Given the description of an element on the screen output the (x, y) to click on. 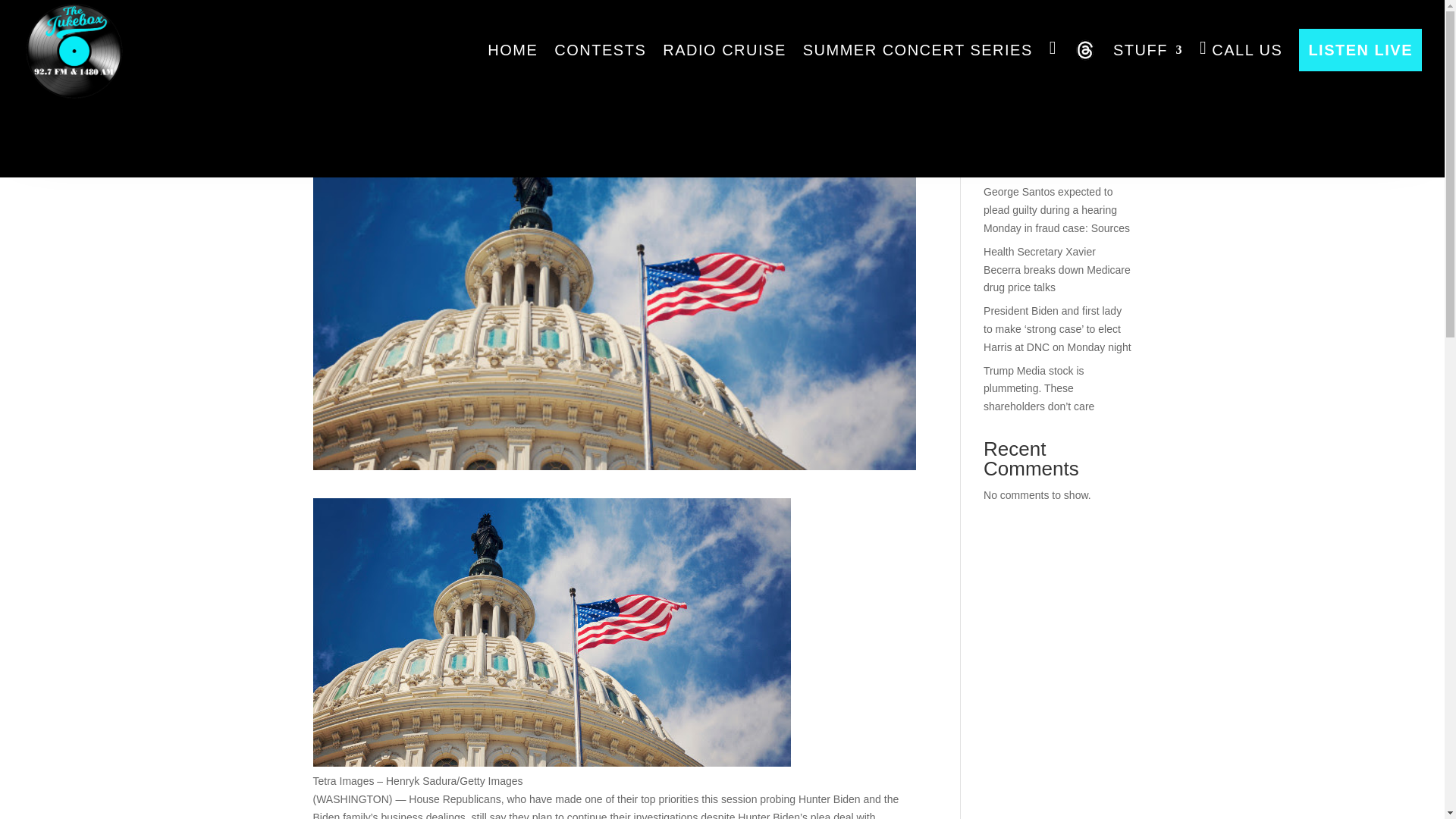
Posts by admin (340, 105)
NYC beaches close due to rip currents from Hurricane Ernesto (1054, 150)
Politics (450, 105)
RADIO CRUISE (724, 49)
3rd party ad content (721, 101)
Search (1106, 59)
CONTESTS (600, 49)
SUMMER CONCERT SERIES (917, 49)
